Given the description of an element on the screen output the (x, y) to click on. 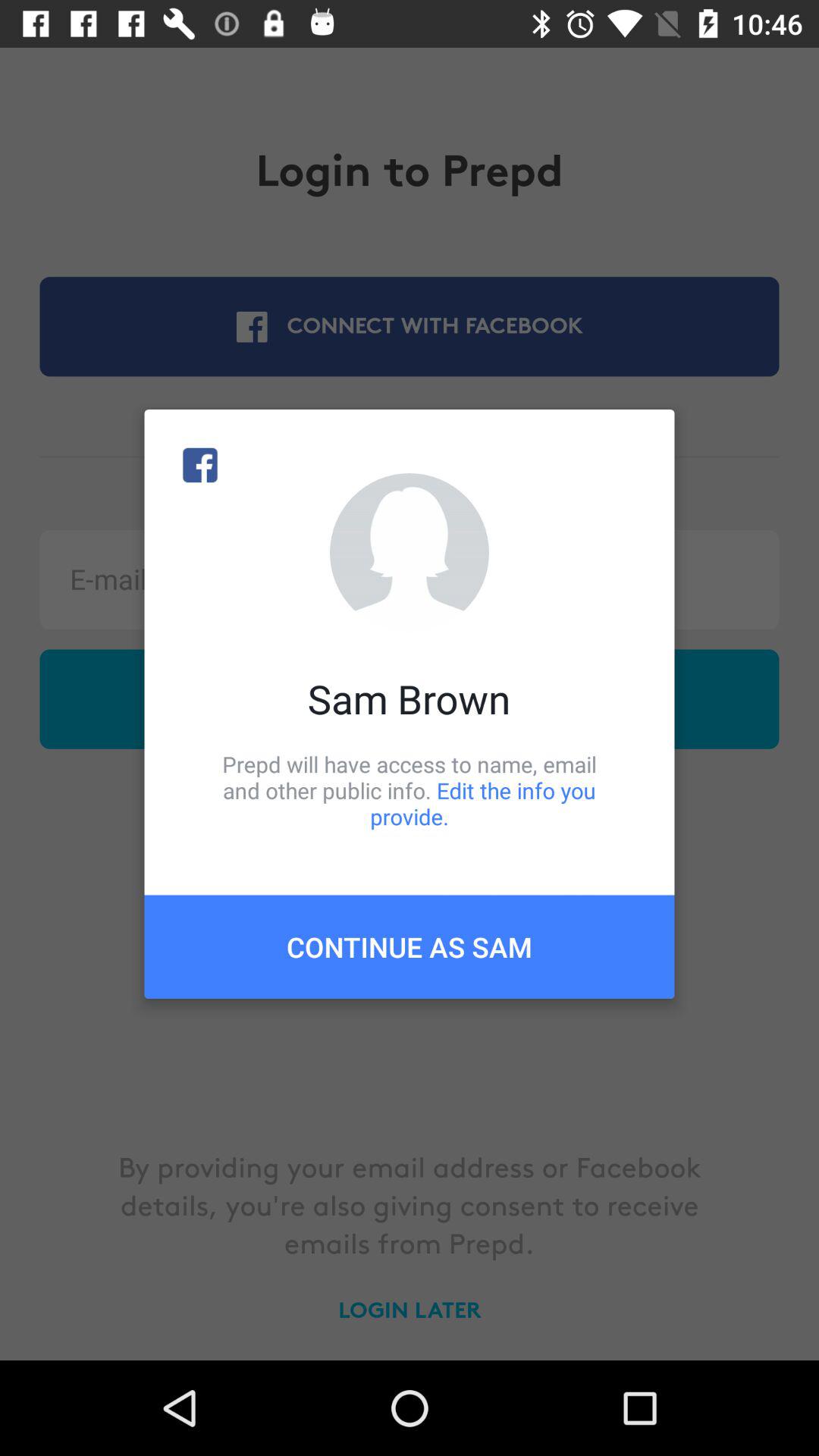
turn off the continue as sam (409, 946)
